Given the description of an element on the screen output the (x, y) to click on. 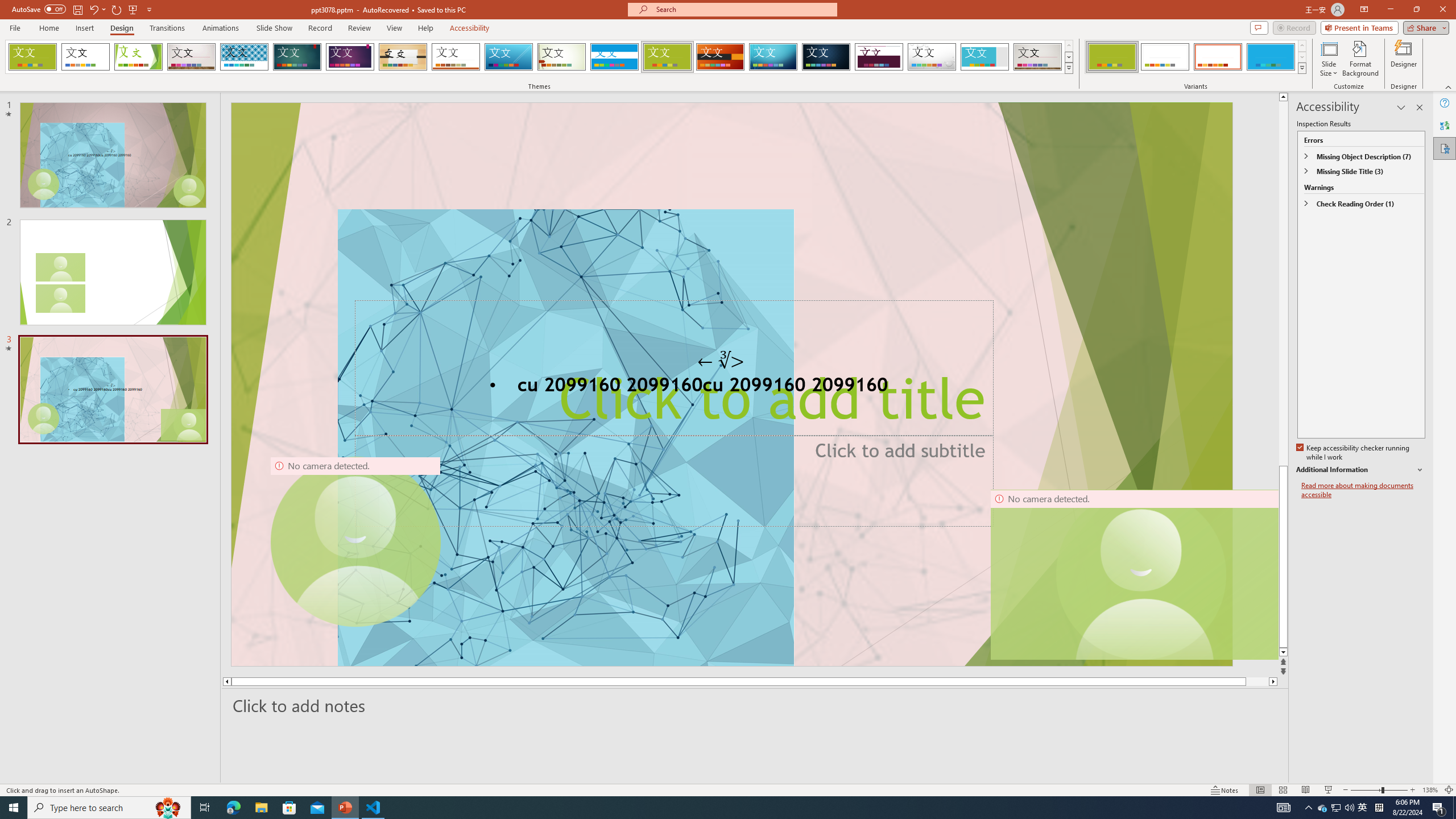
Retrospect (455, 56)
Basis Variant 4 (1270, 56)
Subtitle TextBox (731, 477)
Basis Variant 3 (1217, 56)
